Given the description of an element on the screen output the (x, y) to click on. 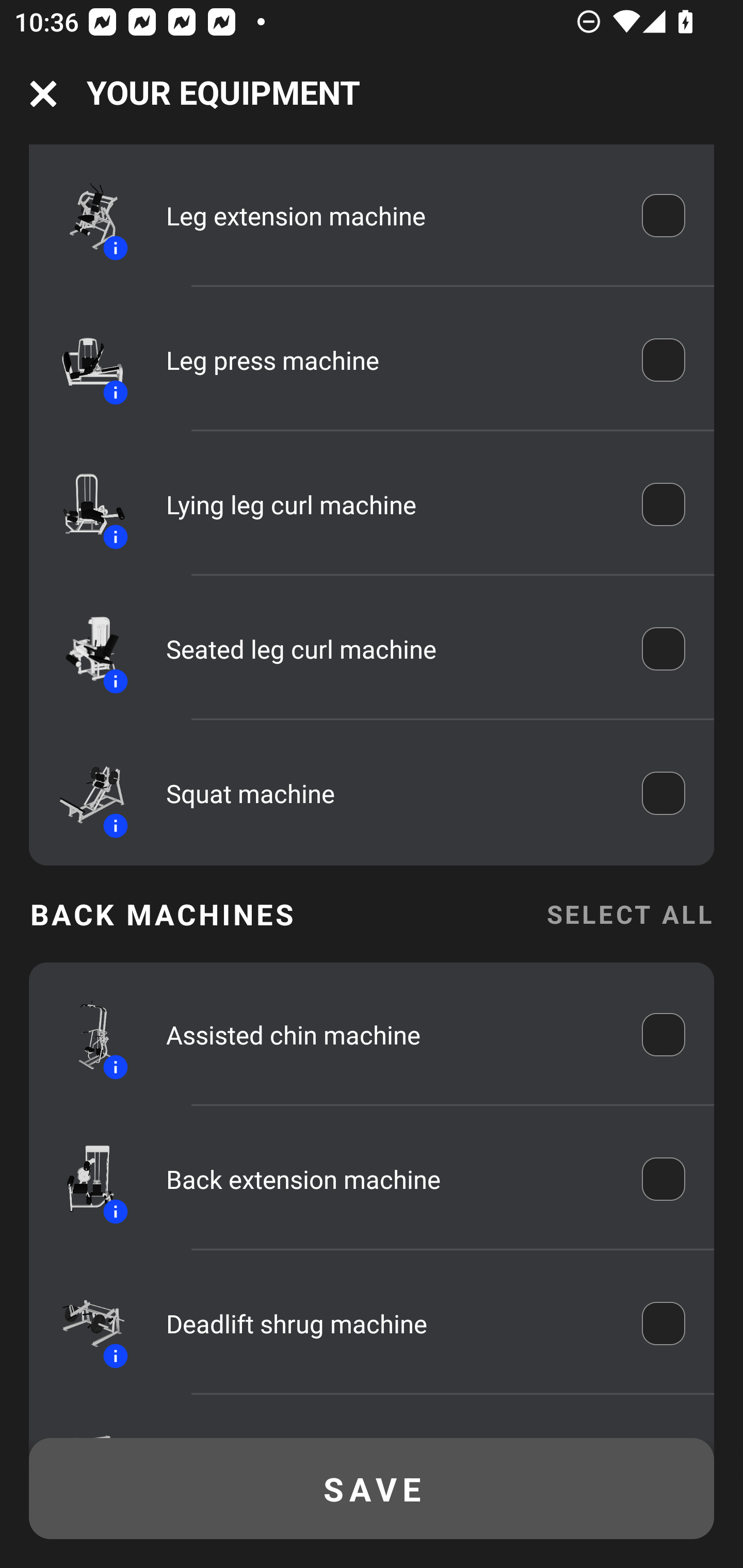
Navigation icon (43, 93)
Equipment icon Information icon (82, 215)
Leg extension machine (389, 215)
Equipment icon Information icon (82, 359)
Leg press machine (389, 359)
Equipment icon Information icon (82, 504)
Lying leg curl machine (389, 503)
Equipment icon Information icon (82, 648)
Seated leg curl machine (389, 648)
Equipment icon Information icon (82, 792)
Squat machine (389, 793)
SELECT ALL (629, 914)
Equipment icon Information icon (82, 1034)
Assisted chin machine (389, 1034)
Equipment icon Information icon (82, 1179)
Back extension machine (389, 1179)
Equipment icon Information icon (82, 1324)
Deadlift shrug machine (389, 1323)
SAVE (371, 1488)
